Given the description of an element on the screen output the (x, y) to click on. 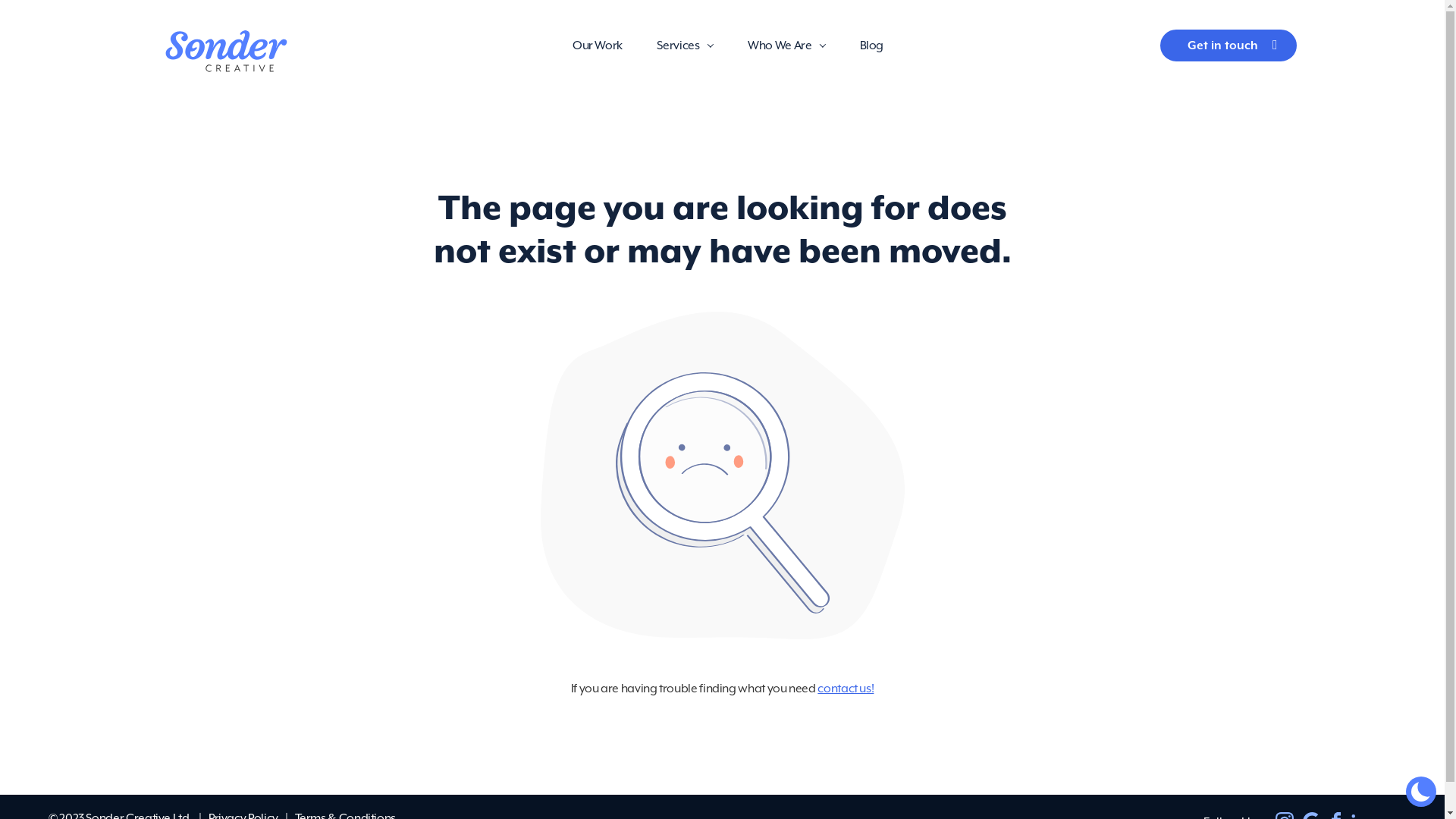
Our Work Element type: text (597, 45)
Who We Are Element type: text (779, 45)
Blog Element type: text (871, 45)
Get in touch Element type: text (1228, 45)
Open Who We Are Menu Element type: text (822, 45)
Services Element type: text (677, 45)
Open Services Menu Element type: text (709, 45)
contact us! Element type: text (845, 688)
